Given the description of an element on the screen output the (x, y) to click on. 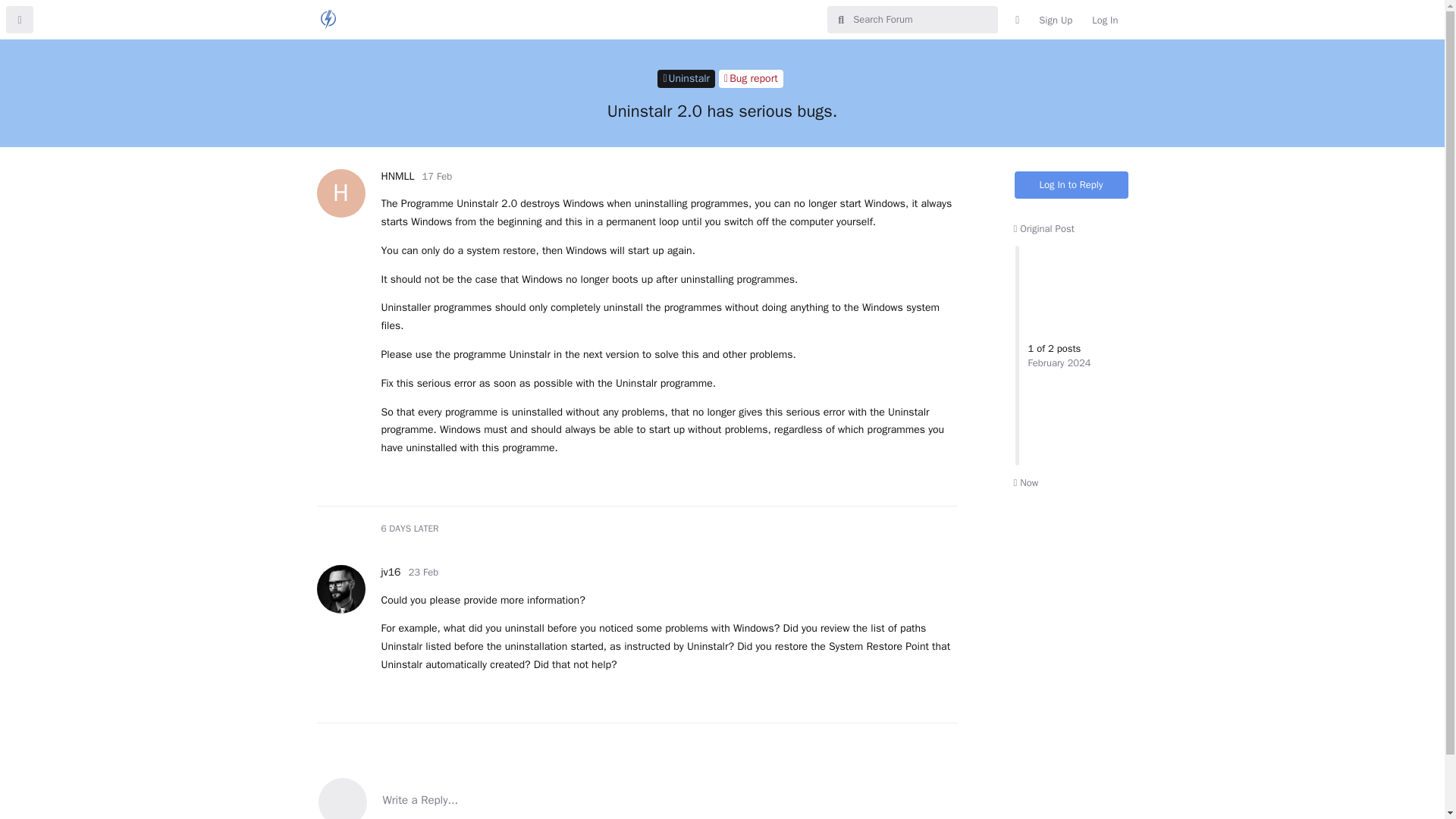
Sign Up (396, 175)
Log In to Reply (1055, 19)
Bug report (1071, 185)
17 Feb (751, 78)
Please use this tag when reporting a bug. (436, 175)
Saturday, February 17, 2024 5:54 PM (751, 78)
jv16 (436, 175)
Now (390, 571)
Write a Reply... (1025, 481)
